Given the description of an element on the screen output the (x, y) to click on. 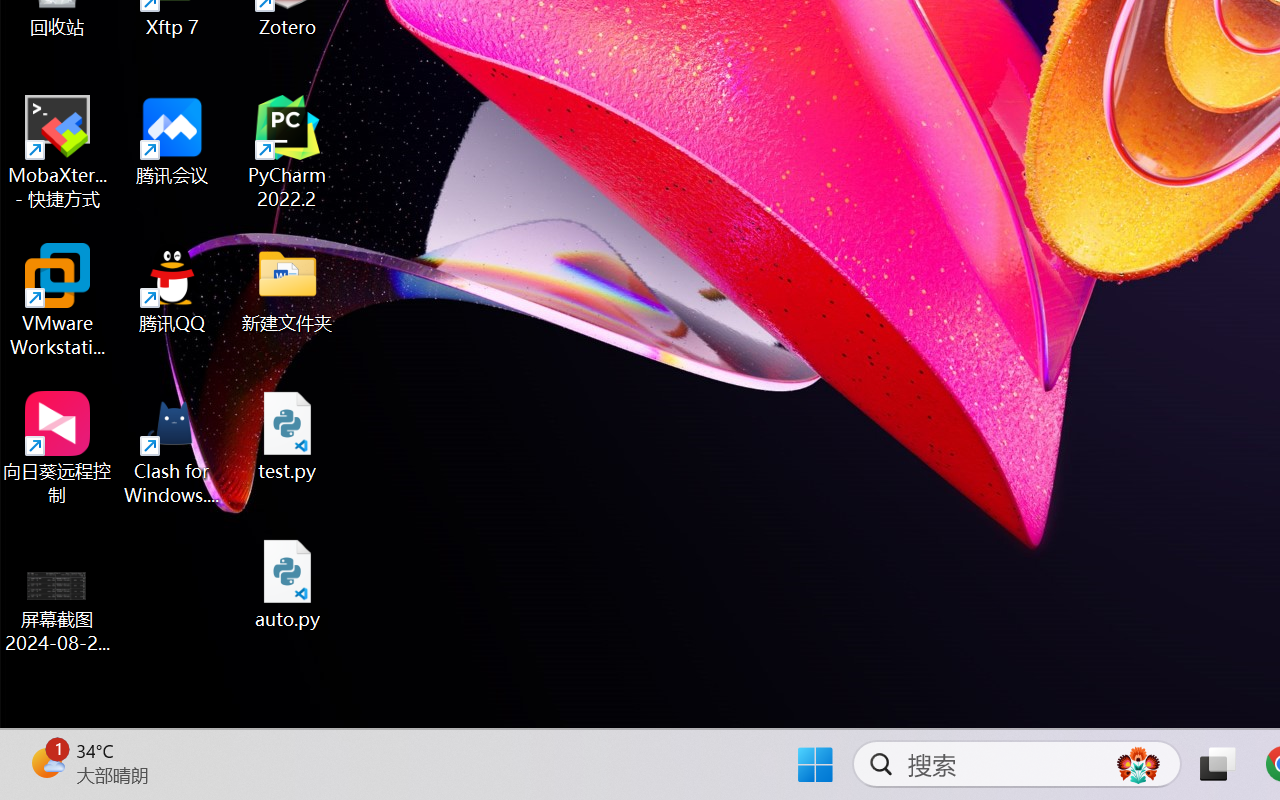
test.py (287, 436)
VMware Workstation Pro (57, 300)
PyCharm 2022.2 (287, 152)
auto.py (287, 584)
